Given the description of an element on the screen output the (x, y) to click on. 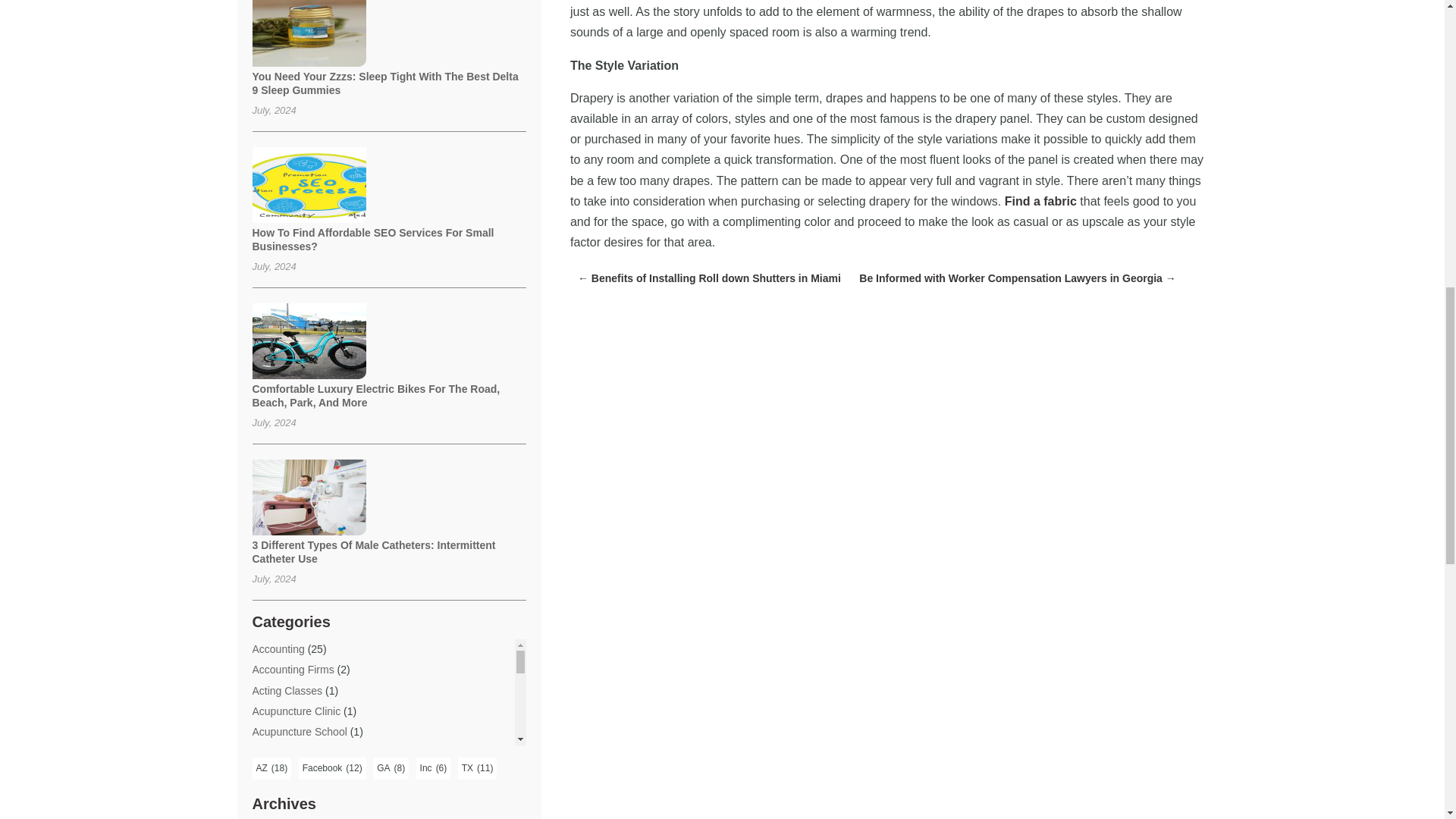
Acupuncture Clinic (295, 711)
Adoption (272, 772)
Accounting (277, 648)
How To Find Affordable SEO Services For Small Businesses? (372, 239)
Agriculture And Forestry (308, 813)
Addiction Treatment (298, 752)
Acupuncture School (298, 731)
Accounting Firms (292, 669)
Acting Classes (286, 690)
Agricultural Service (297, 793)
